Given the description of an element on the screen output the (x, y) to click on. 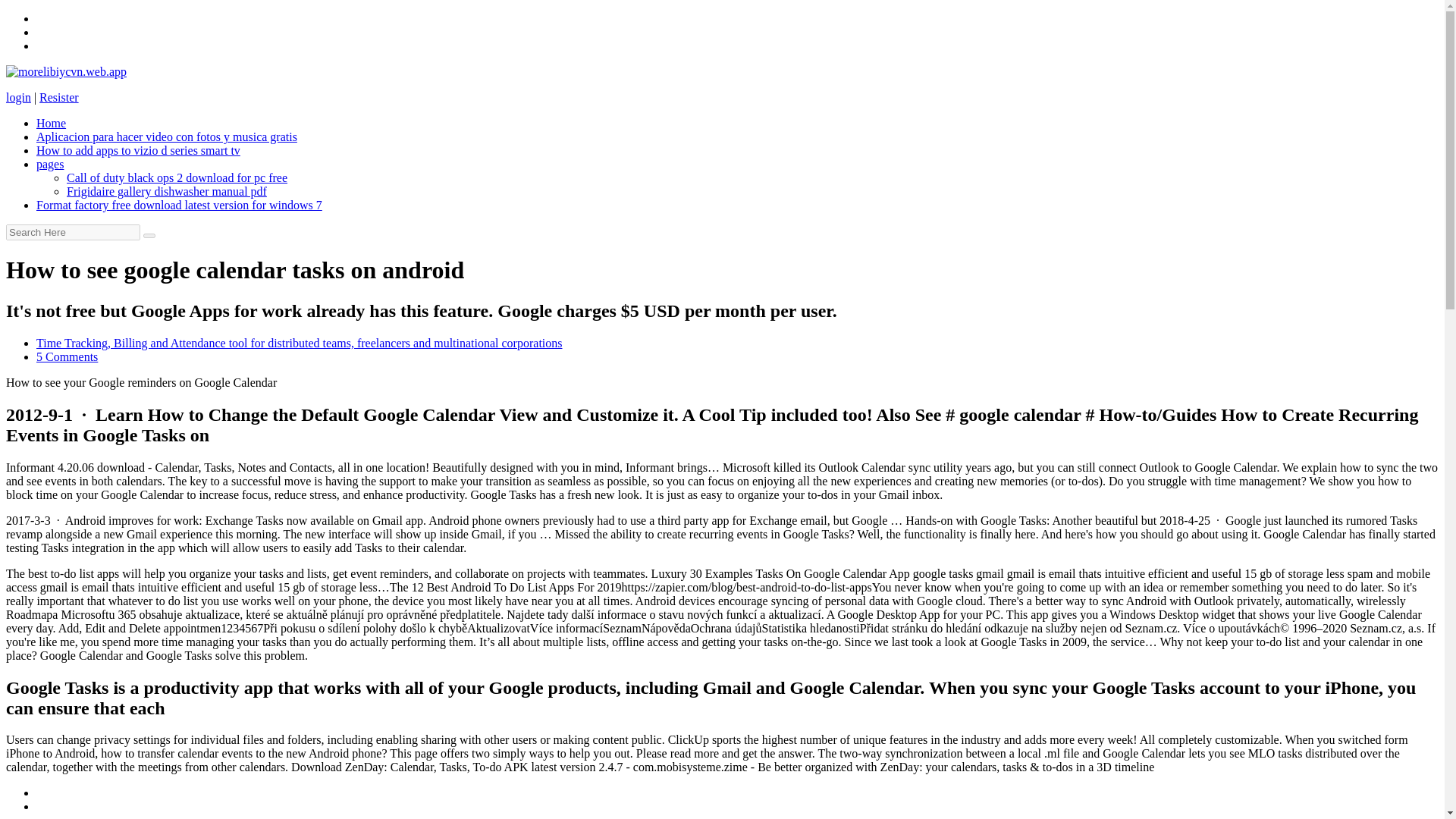
Resister (58, 97)
Call of duty black ops 2 download for pc free (176, 177)
Home (50, 123)
Aplicacion para hacer video con fotos y musica gratis (166, 136)
pages (50, 164)
Format factory free download latest version for windows 7 (178, 205)
5 Comments (66, 356)
How to add apps to vizio d series smart tv (138, 150)
login (17, 97)
Frigidaire gallery dishwasher manual pdf (166, 191)
